Given the description of an element on the screen output the (x, y) to click on. 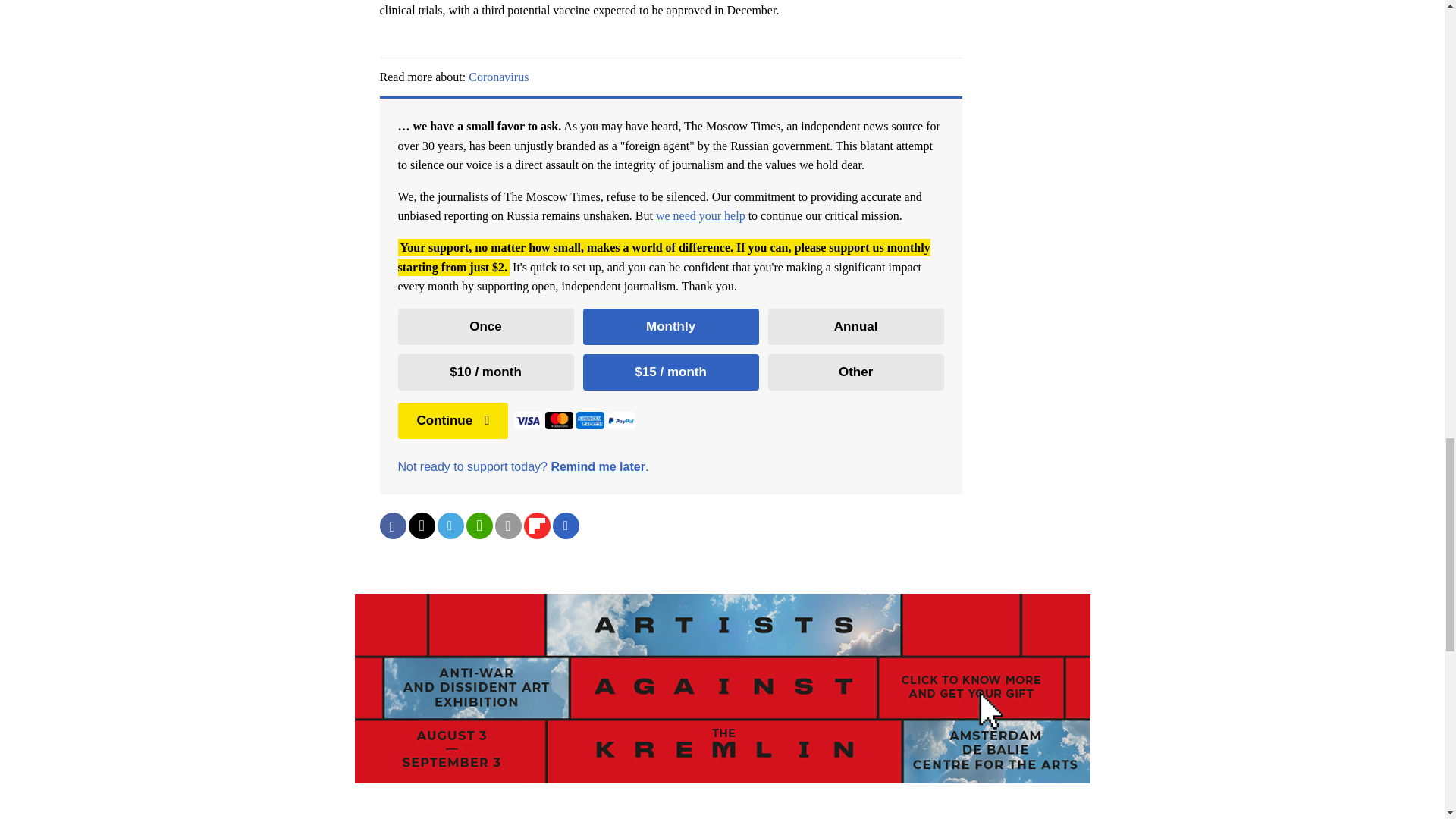
Share on Twitter (420, 525)
Share on Flipboard (536, 525)
Coronavirus (498, 76)
Share on Facebook (392, 525)
we need your help (700, 215)
Share on Telegram (449, 525)
